Given the description of an element on the screen output the (x, y) to click on. 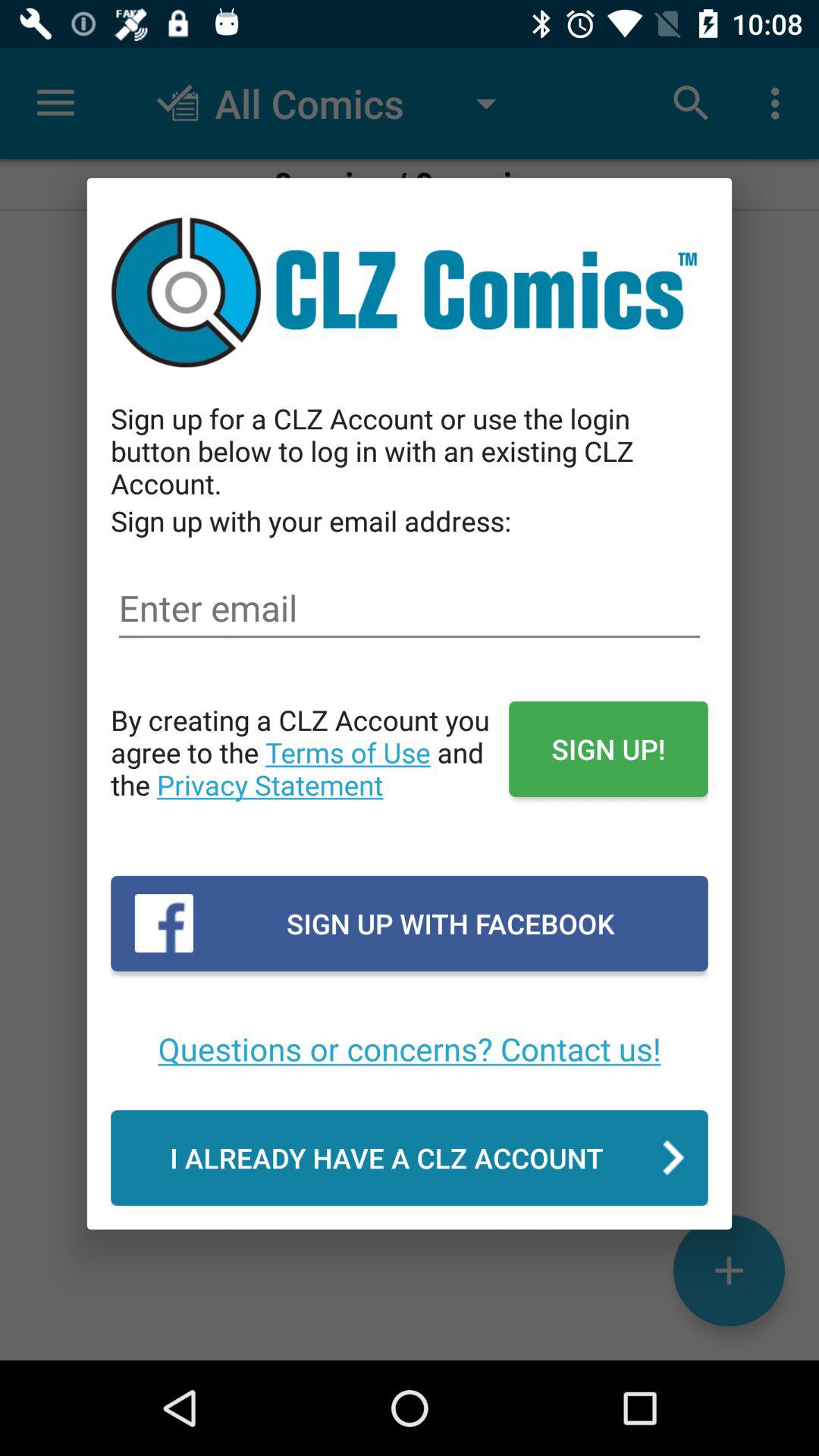
launch the questions or concerns (409, 1048)
